Given the description of an element on the screen output the (x, y) to click on. 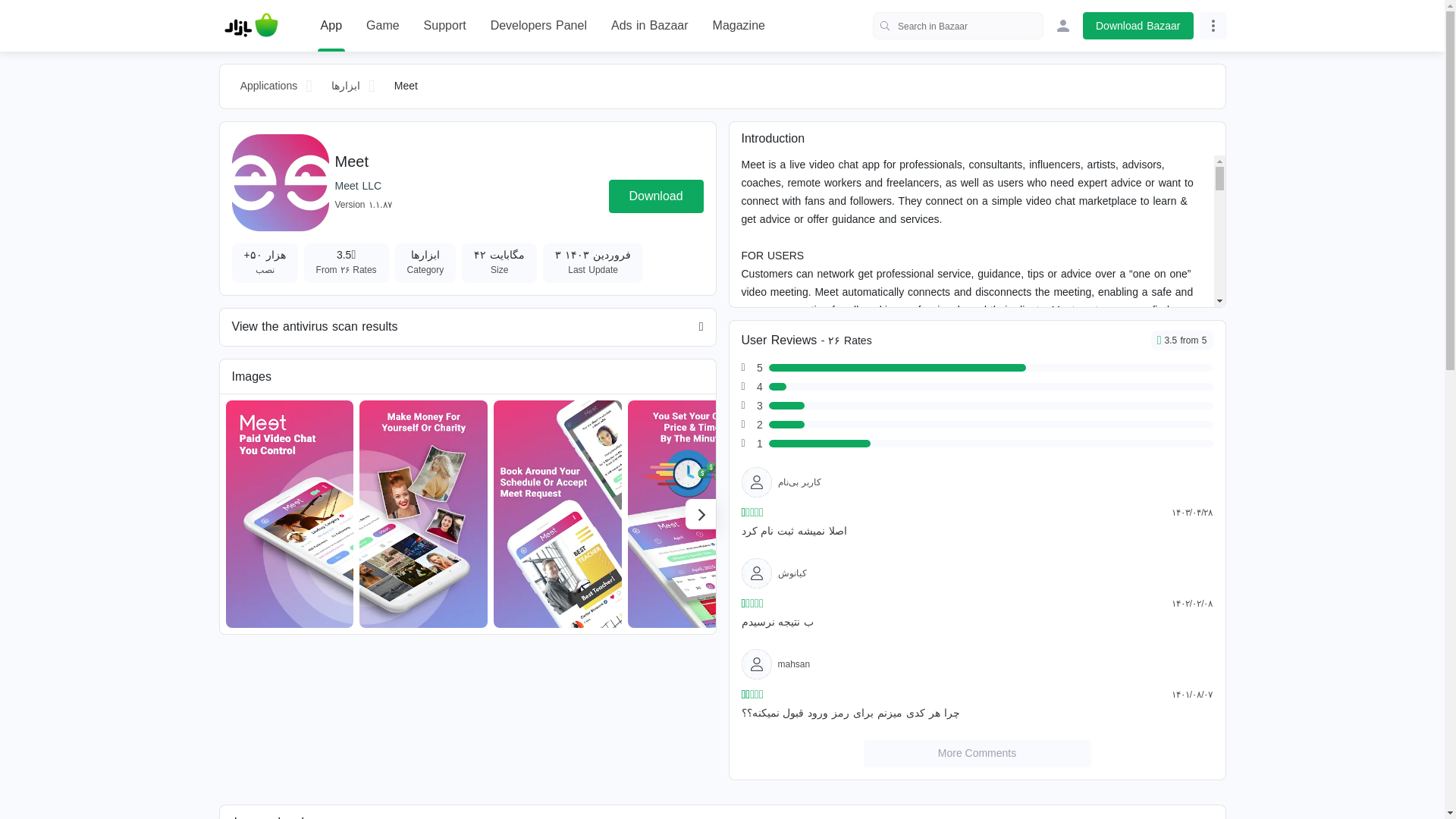
Magazine (739, 25)
Download Bazaar (1138, 25)
Support (444, 25)
Developers Panel (538, 25)
Ads in Bazaar (649, 25)
Home (250, 25)
Applications (268, 86)
Login to Bazaar (1063, 25)
Settings Menu (1213, 25)
